Given the description of an element on the screen output the (x, y) to click on. 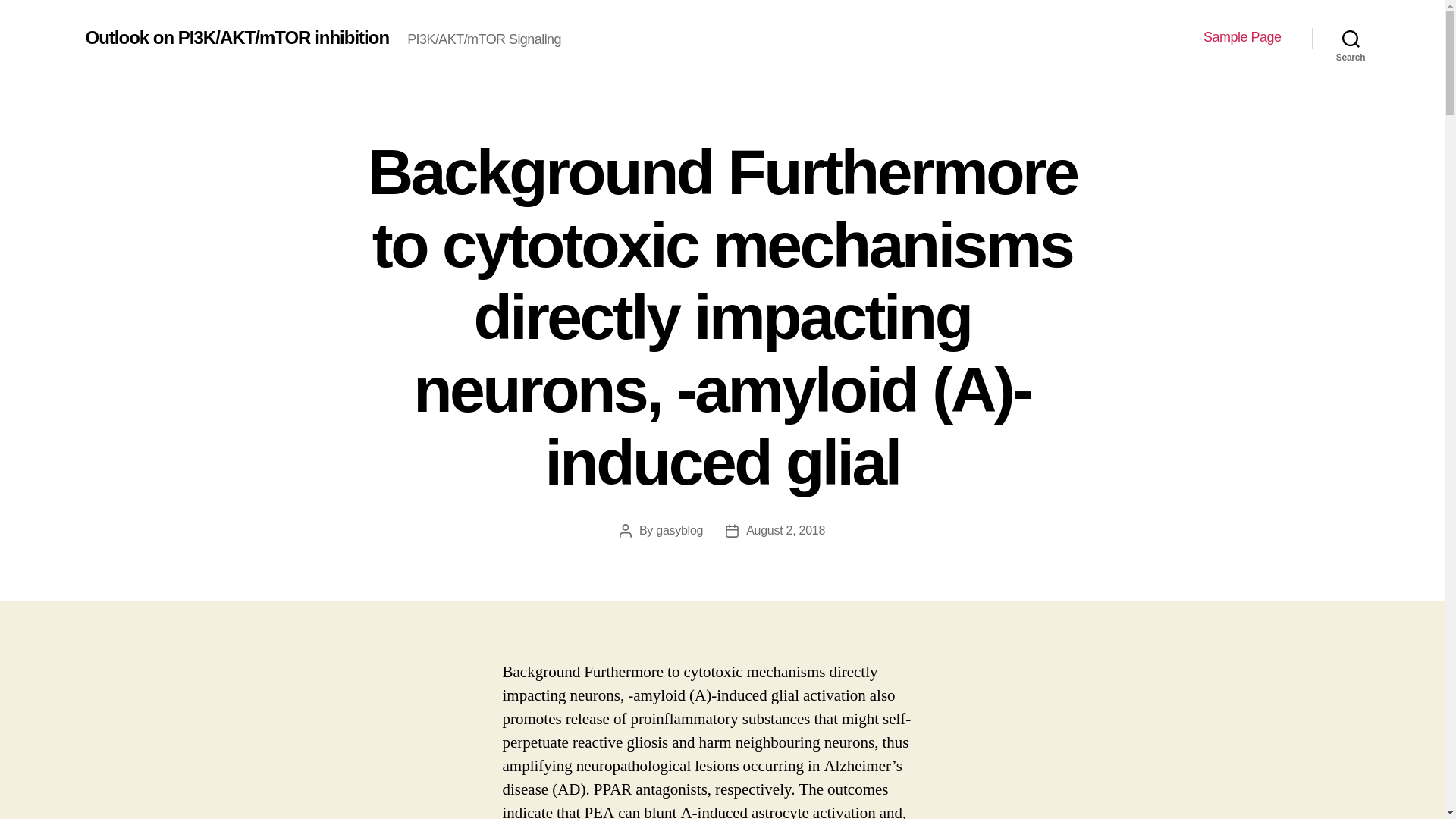
August 2, 2018 (785, 530)
Sample Page (1242, 37)
gasyblog (679, 530)
Search (1350, 37)
